Given the description of an element on the screen output the (x, y) to click on. 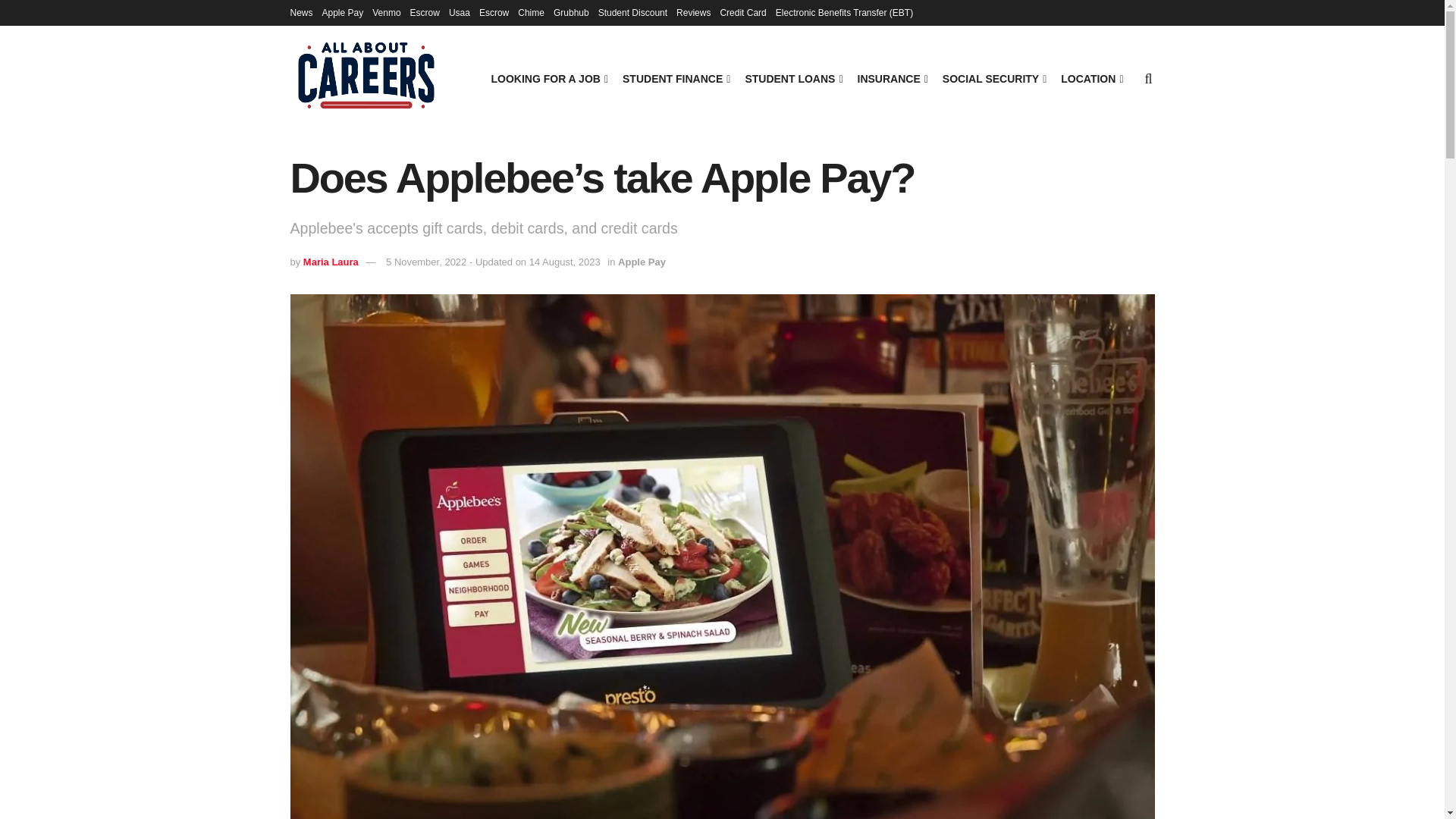
Chime (531, 12)
STUDENT FINANCE (675, 78)
LOOKING FOR A JOB (547, 78)
Venmo (386, 12)
Credit Card (742, 12)
Reviews (693, 12)
Apple Pay (342, 12)
Student Discount (632, 12)
Escrow (493, 12)
Grubhub (571, 12)
